Given the description of an element on the screen output the (x, y) to click on. 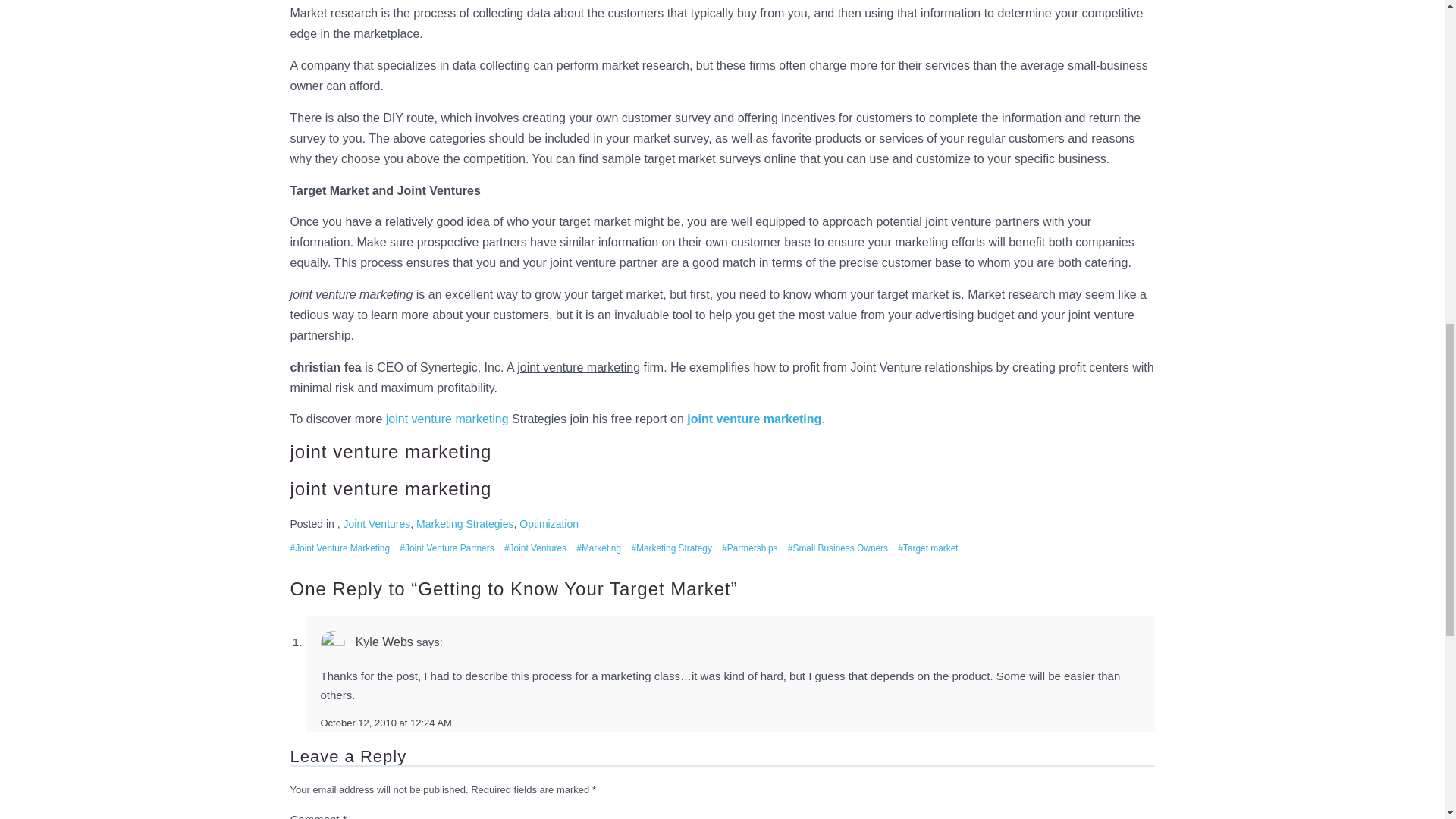
Partnerships (749, 547)
Joint Venture Partners (445, 547)
Small Business Owners (837, 547)
Marketing (598, 547)
Marketing Strategy (670, 547)
Joint Ventures (376, 523)
Optimization (548, 523)
joint venture marketing (446, 418)
Joint Ventures (534, 547)
October 12, 2010 at 12:24 AM (385, 723)
joint venture marketing. (755, 418)
Kyle Webs (384, 641)
Marketing Strategies (464, 523)
Joint Venture Marketing (339, 547)
Target market (928, 547)
